Given the description of an element on the screen output the (x, y) to click on. 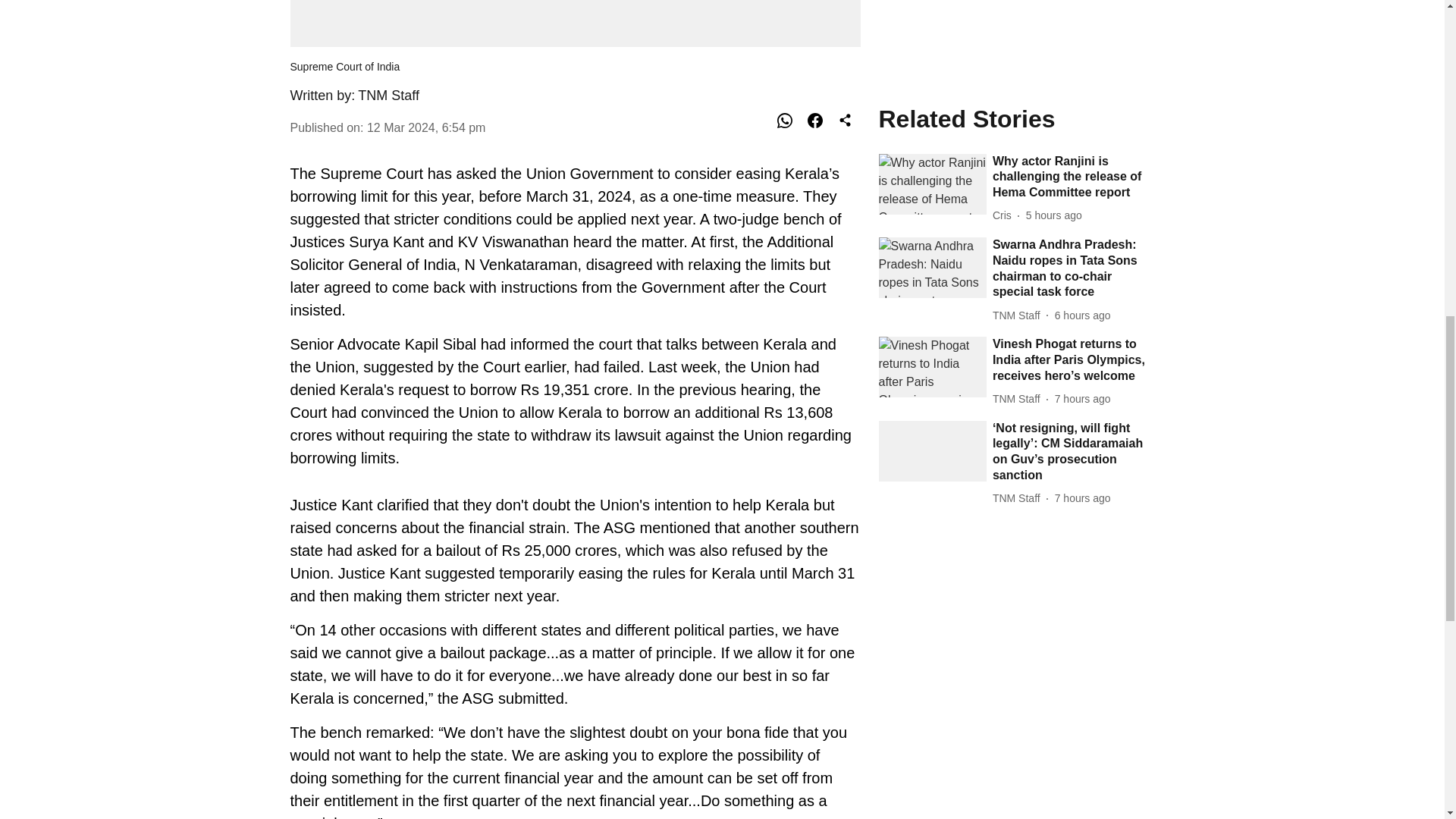
TNM Staff (1019, 30)
2024-08-17 11:34 (1082, 130)
2024-03-12 10:54 (426, 127)
2024-08-17 12:11 (1082, 30)
TNM Staff (1019, 130)
TNM Staff (388, 95)
